Given the description of an element on the screen output the (x, y) to click on. 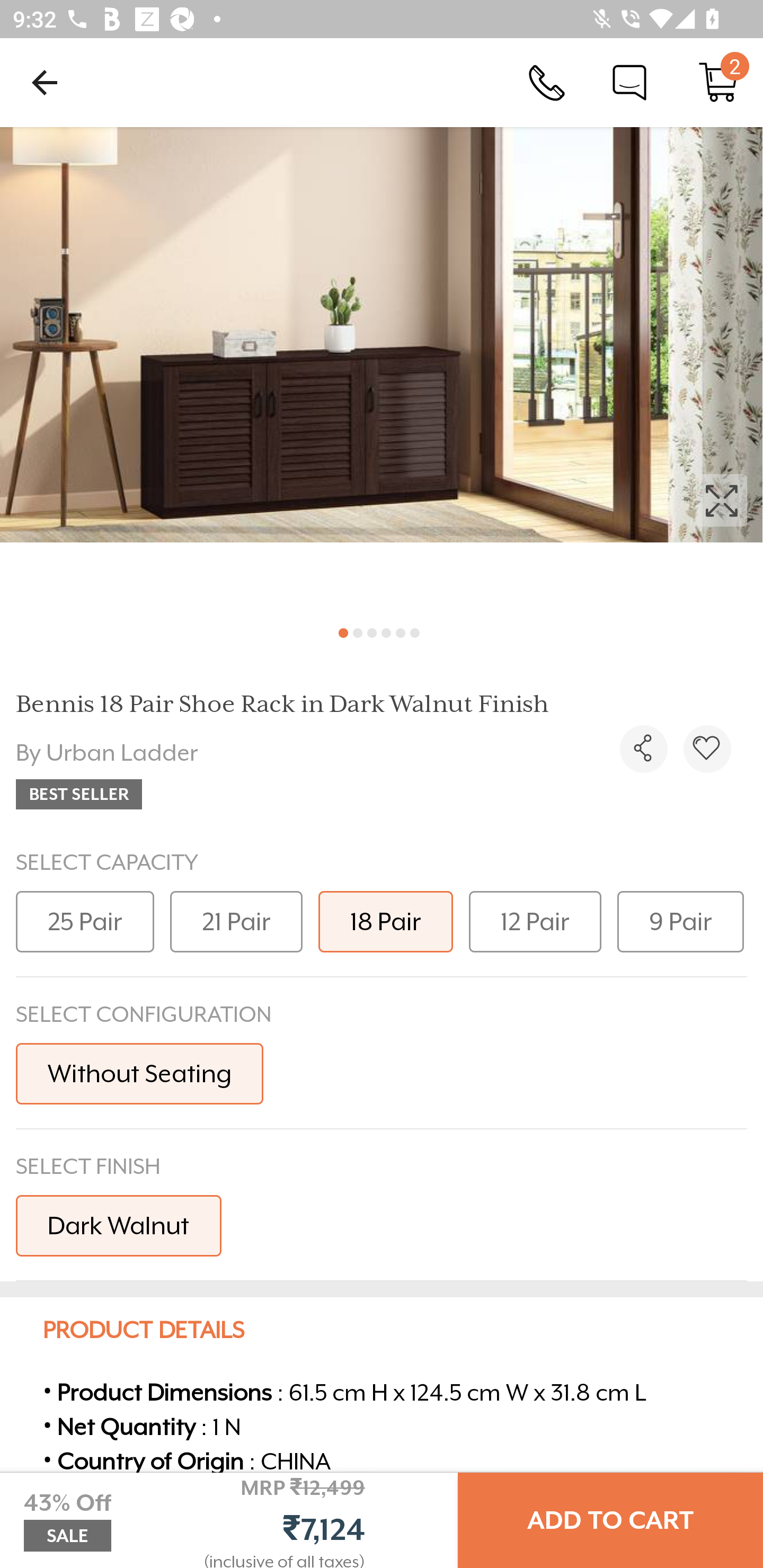
Navigate up (44, 82)
Call Us (546, 81)
Chat (629, 81)
Cart (718, 81)
 (381, 370)
 (643, 748)
 (706, 748)
25 Pair (85, 920)
21 Pair (236, 920)
18 Pair (385, 920)
12 Pair (535, 920)
9 Pair (680, 920)
Without Seating (139, 1072)
Dark Walnut (118, 1224)
ADD TO CART (610, 1520)
